Given the description of an element on the screen output the (x, y) to click on. 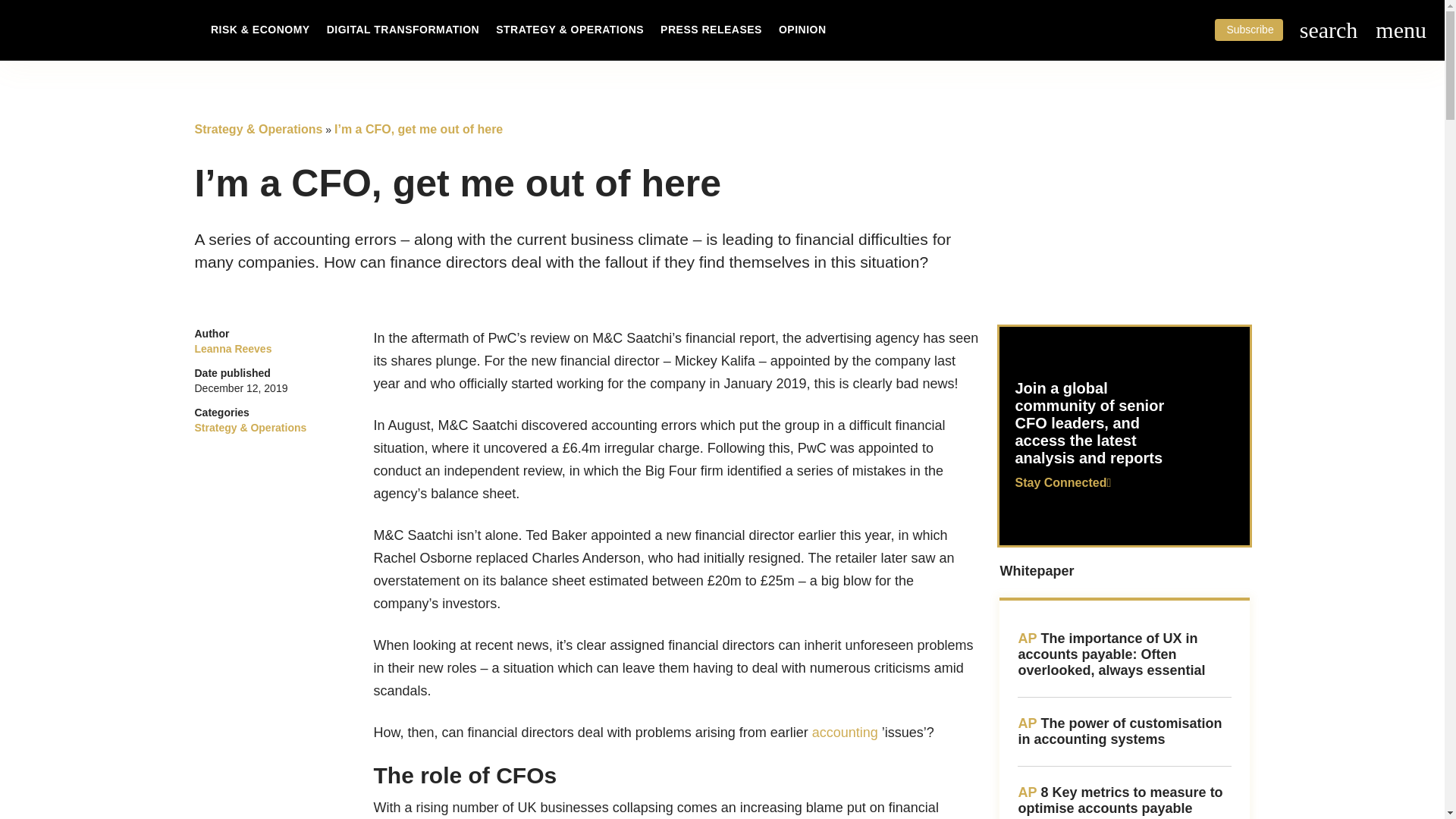
Subscribe (1248, 29)
search (1328, 29)
menu (1401, 29)
OPINION (802, 29)
DIGITAL TRANSFORMATION (402, 29)
PRESS RELEASES (711, 29)
